Given the description of an element on the screen output the (x, y) to click on. 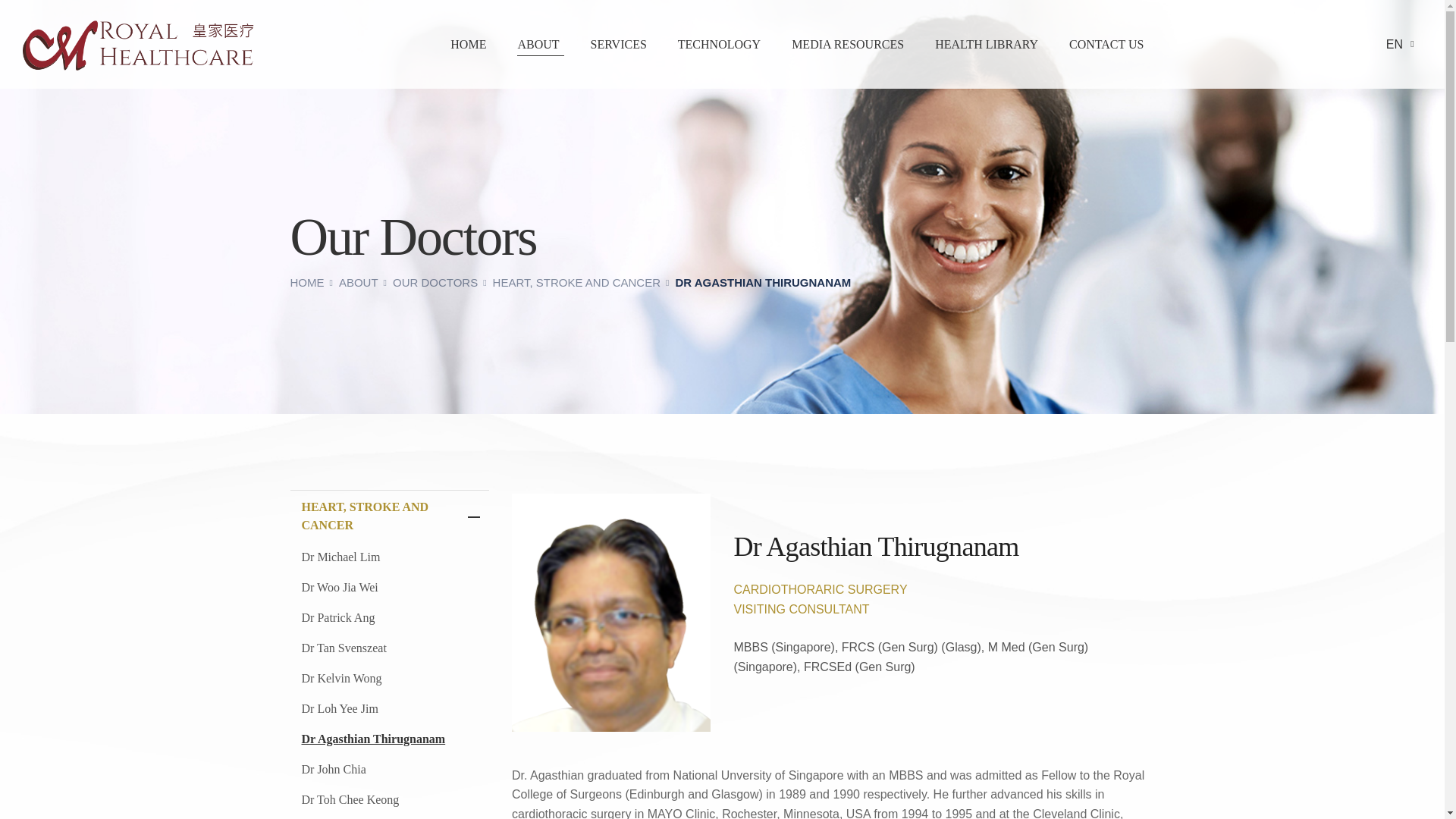
Dr Agasthian Thirugnanam (389, 738)
Go to Our Doctors. (441, 282)
OUR DOCTORS (441, 282)
HOME (312, 282)
SERVICES (620, 44)
Dr Woo Jia Wei (389, 587)
HOME (469, 44)
Dr Toh Chee Keong (389, 799)
HEART, STROKE AND CANCER (389, 516)
Dr Kelvin Wong (389, 678)
HEALTH LIBRARY (988, 44)
Go to About. (364, 282)
ABOUT (364, 282)
Dr Patrick Ang (389, 617)
HEART, STROKE AND CANCER (582, 282)
